Given the description of an element on the screen output the (x, y) to click on. 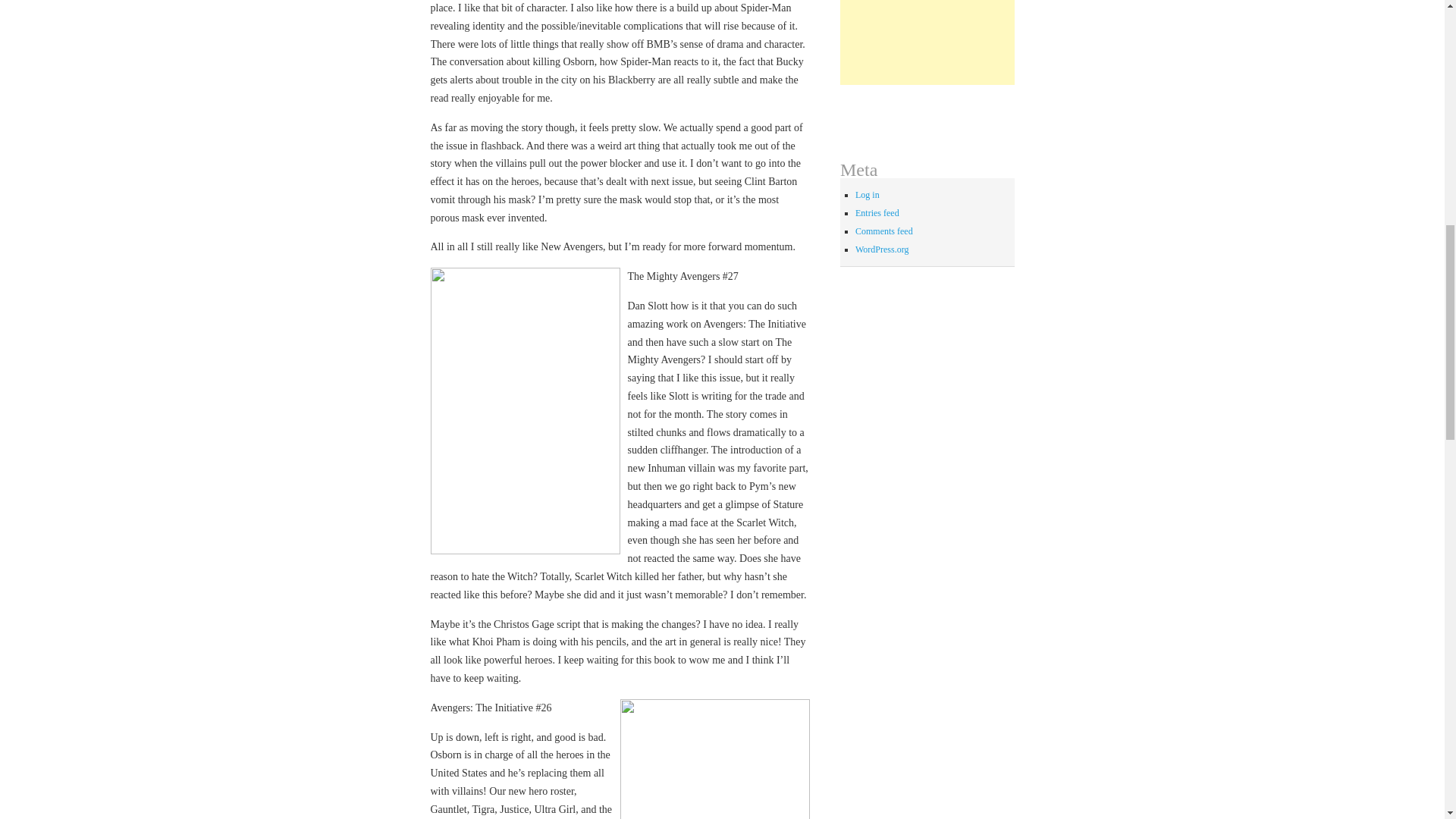
Comments feed (884, 231)
Entries feed (877, 213)
WordPress.org (882, 249)
Log in (867, 194)
Advertisement (927, 42)
